Given the description of an element on the screen output the (x, y) to click on. 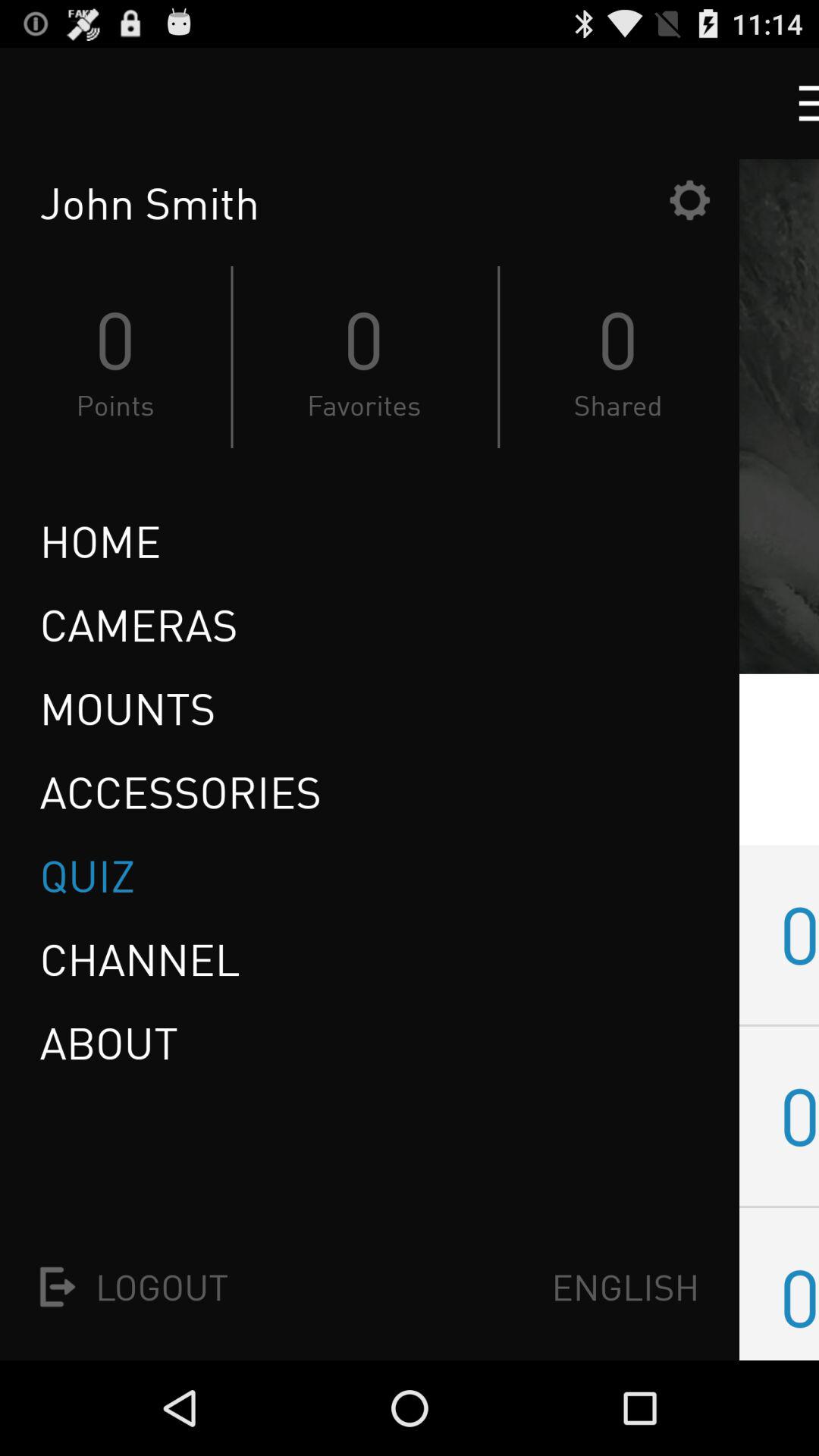
jump until the english icon (625, 1286)
